Given the description of an element on the screen output the (x, y) to click on. 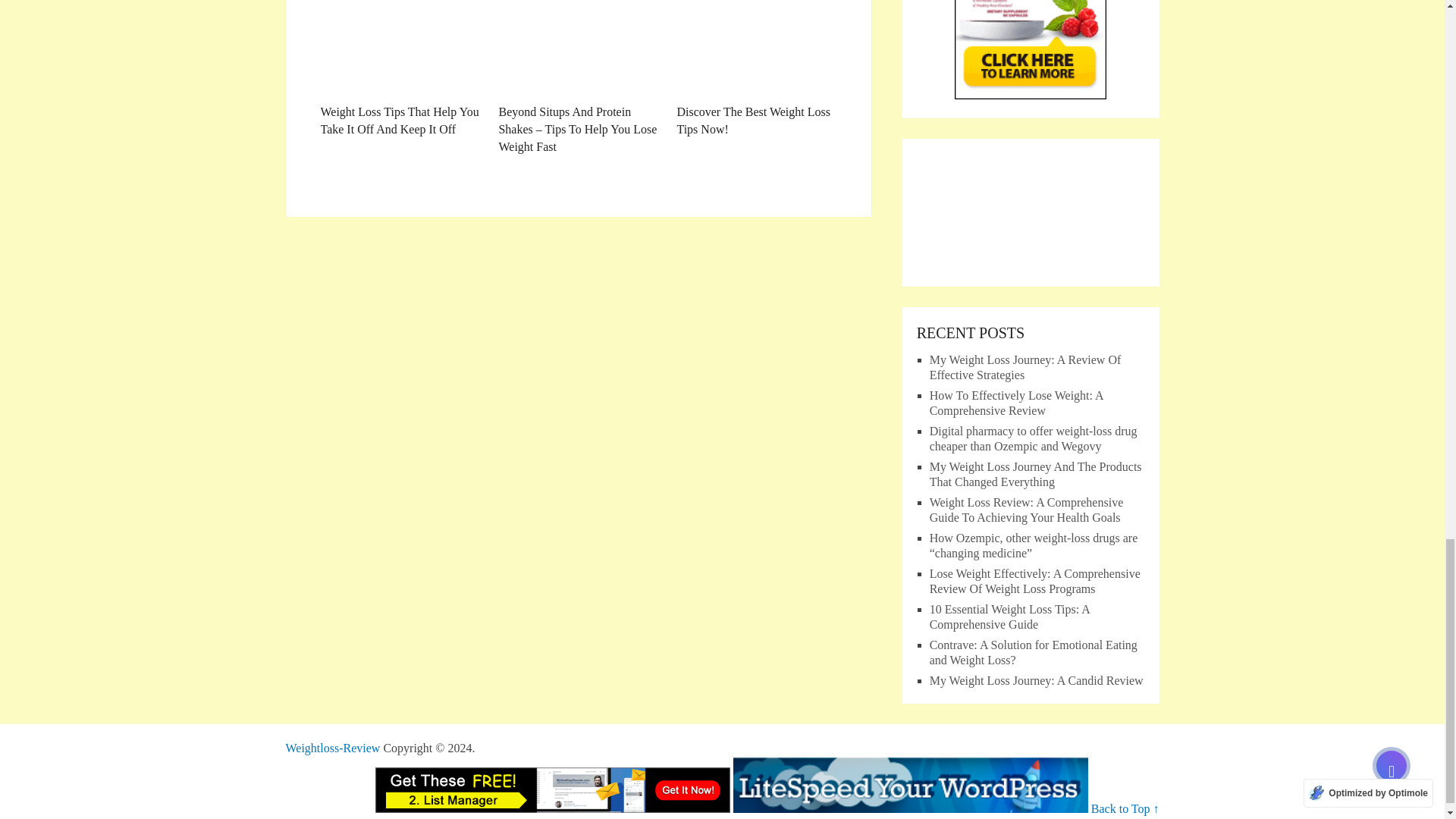
10 Essential Weight Loss Tips: A Comprehensive Guide (1009, 616)
Discover The Best Weight Loss Tips Now! (756, 69)
You Can Have Weight Loss Success! (332, 748)
Weightloss-Review (332, 748)
My Weight Loss Journey: A Candid Review (1036, 680)
Discover The Best Weight Loss Tips Now! (756, 69)
